Given the description of an element on the screen output the (x, y) to click on. 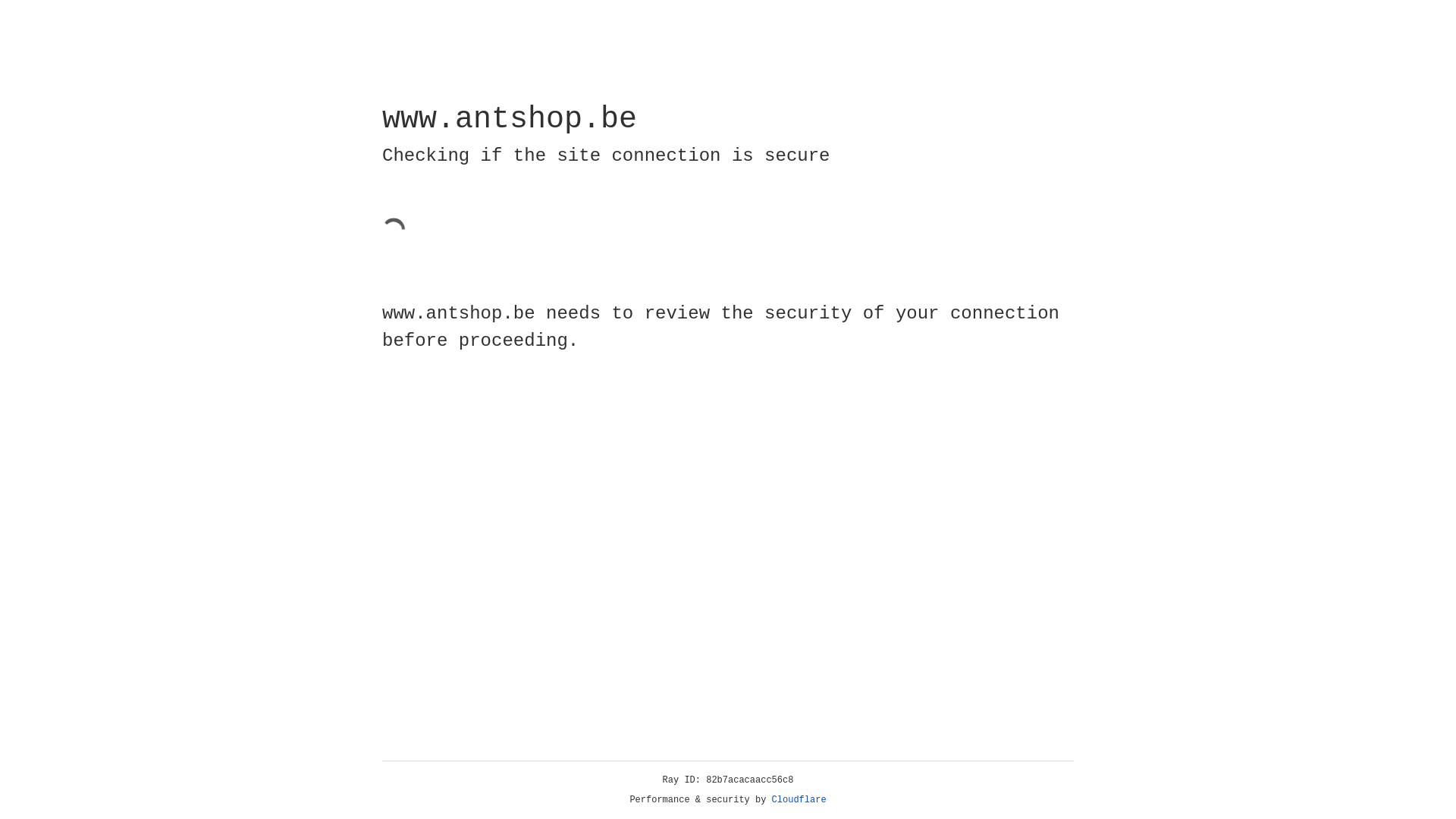
Cloudflare Element type: text (798, 799)
